Given the description of an element on the screen output the (x, y) to click on. 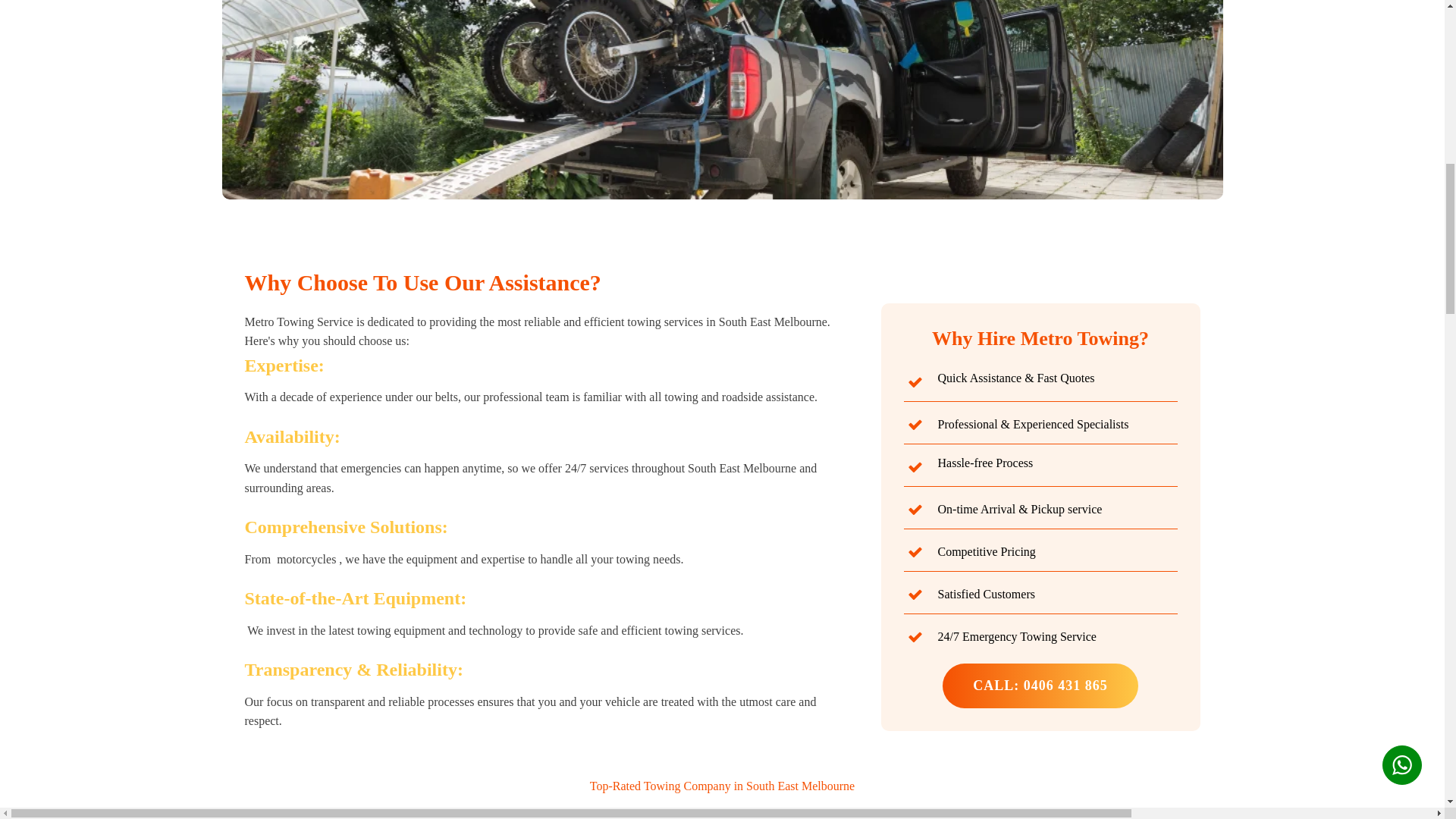
CALL: 0406 431 865 (1040, 685)
